Given the description of an element on the screen output the (x, y) to click on. 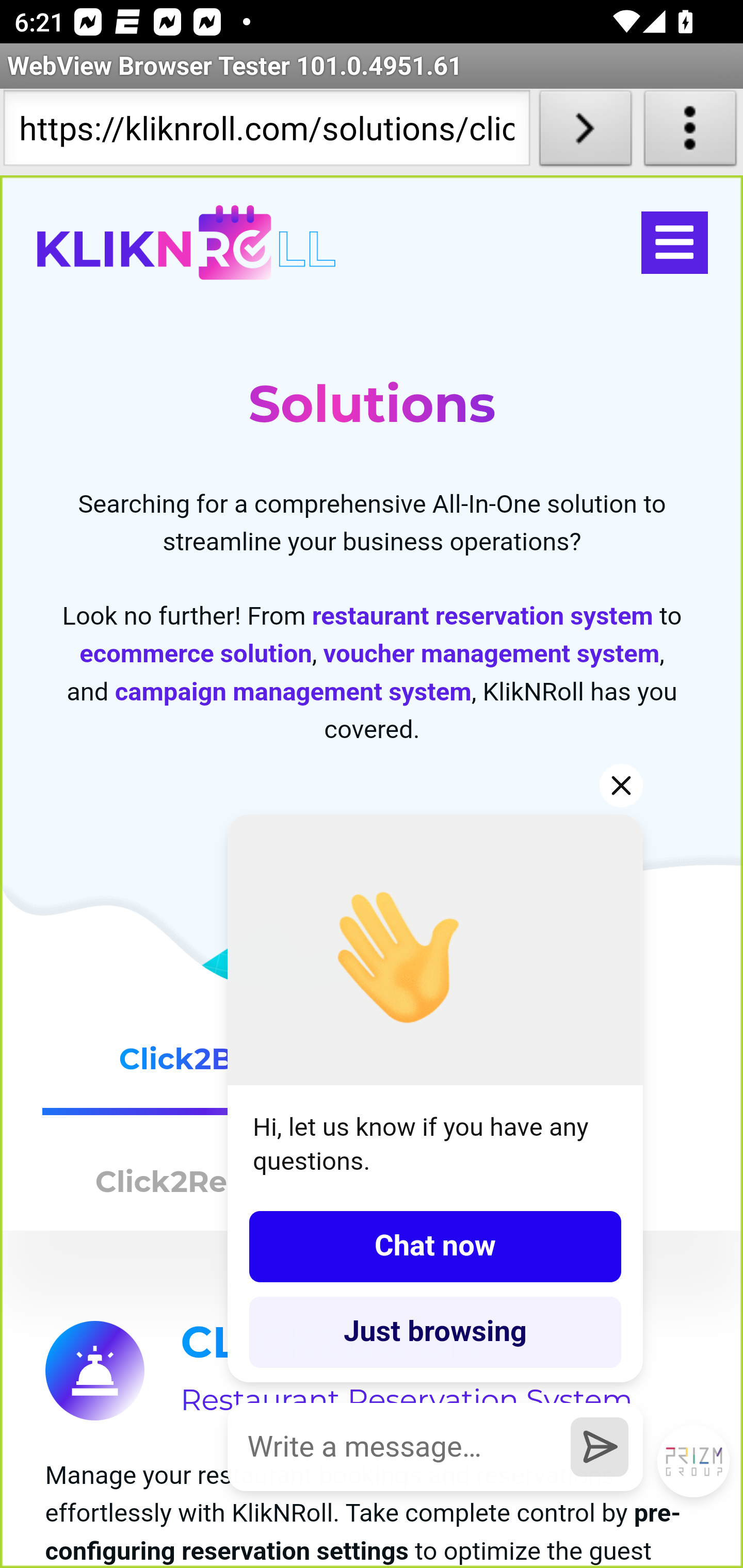
Load URL (585, 132)
About WebView (690, 132)
kliknroll (185, 242)
 (673, 242)
Hide greeting (621, 785)
Chat now (435, 1246)
Just browsing (435, 1331)
Send a message (600, 1446)
Open LiveChat chat widget (694, 1462)
